Given the description of an element on the screen output the (x, y) to click on. 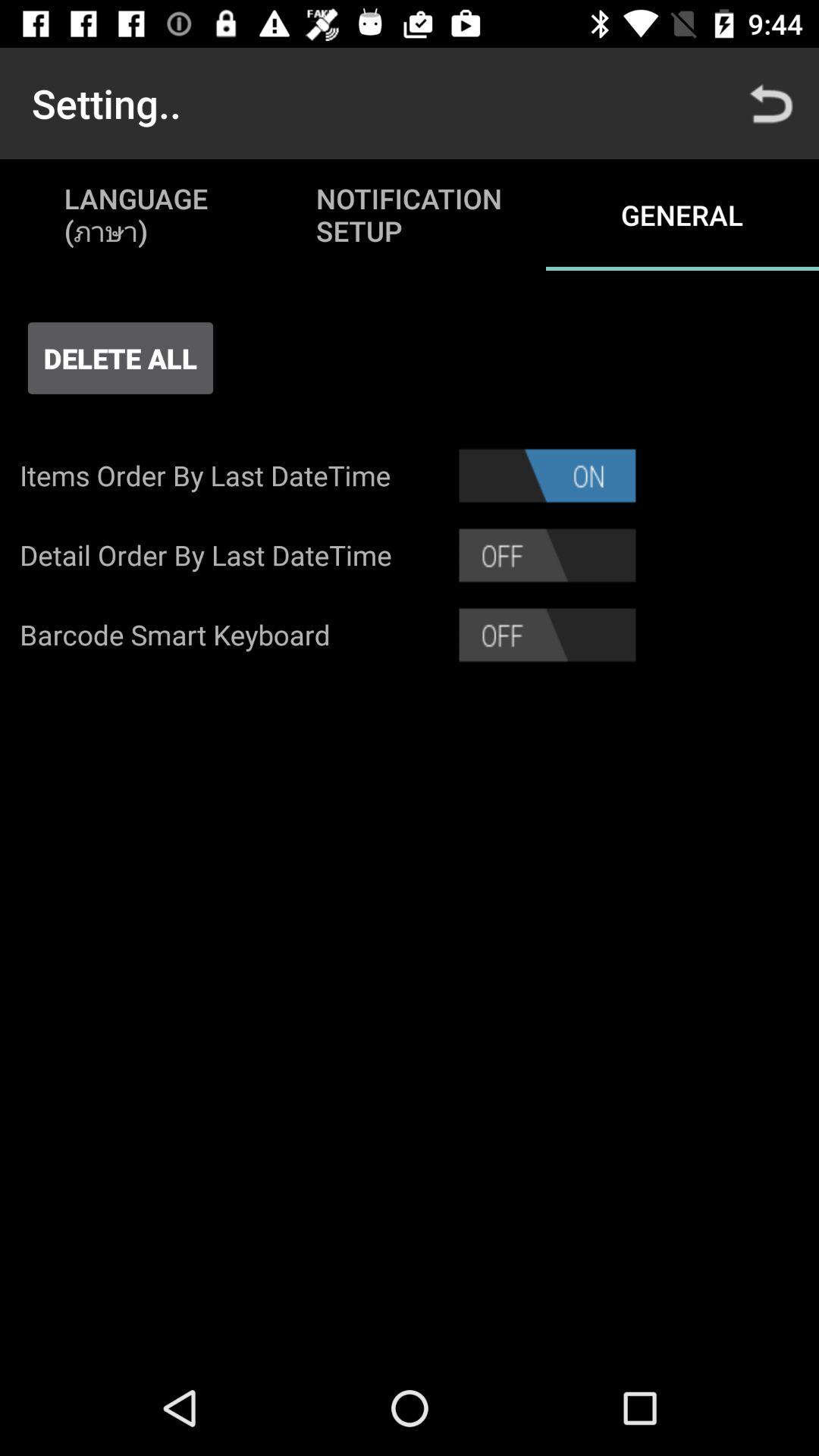
turn on delete all button (120, 358)
